Given the description of an element on the screen output the (x, y) to click on. 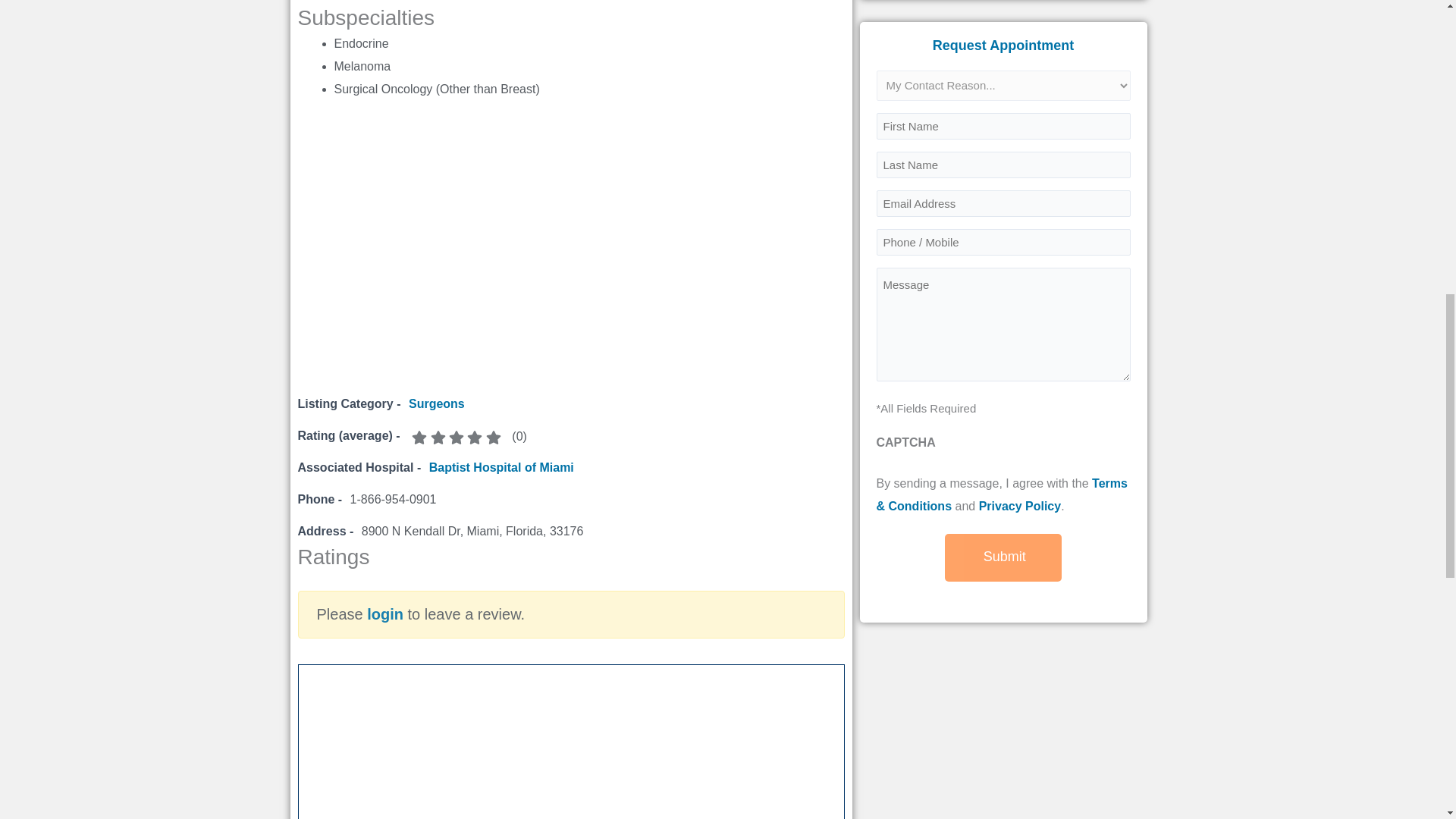
Submit (1002, 556)
